Given the description of an element on the screen output the (x, y) to click on. 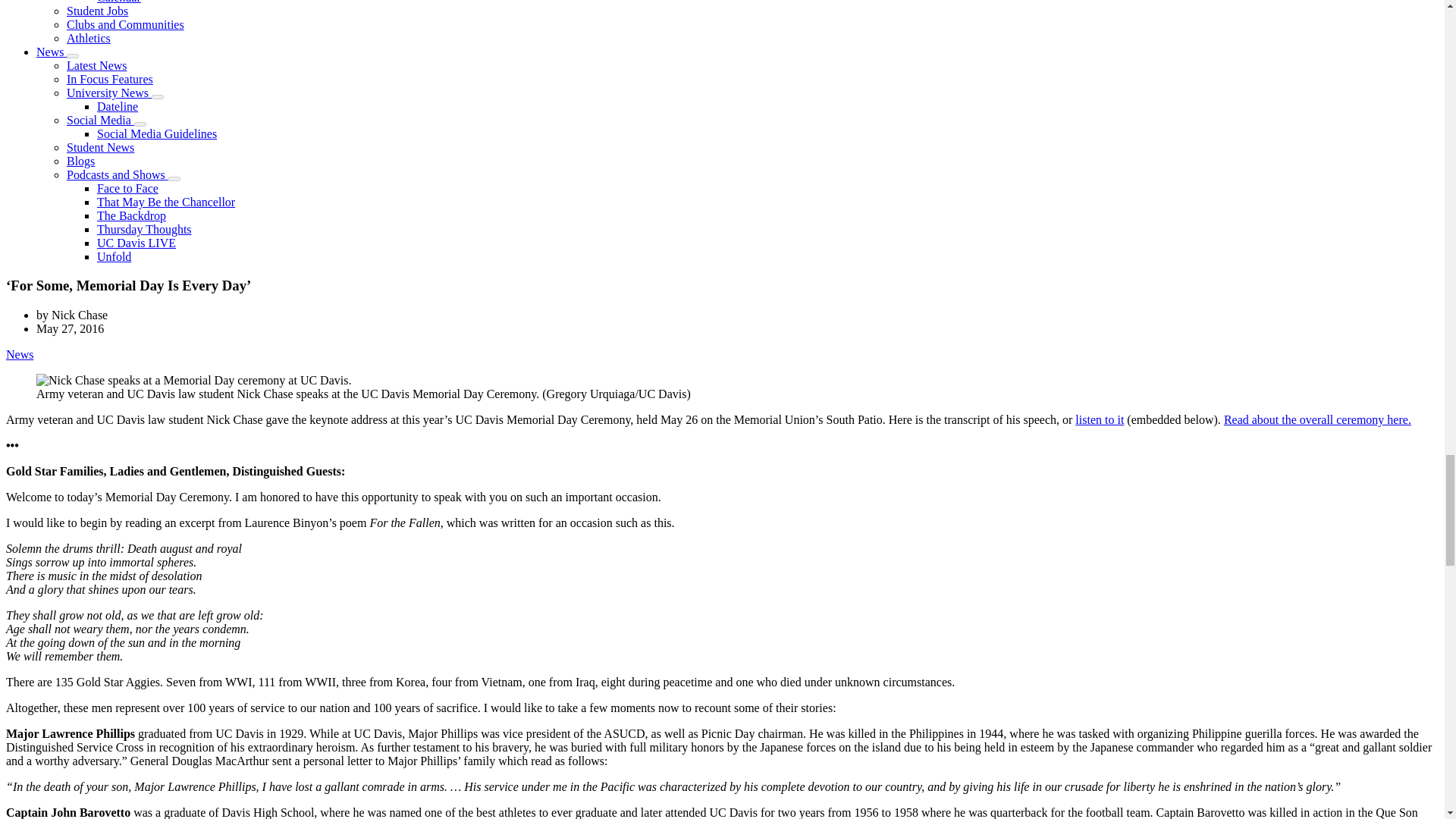
Friday, May 27, 2016 - 10:26am (69, 328)
